Given the description of an element on the screen output the (x, y) to click on. 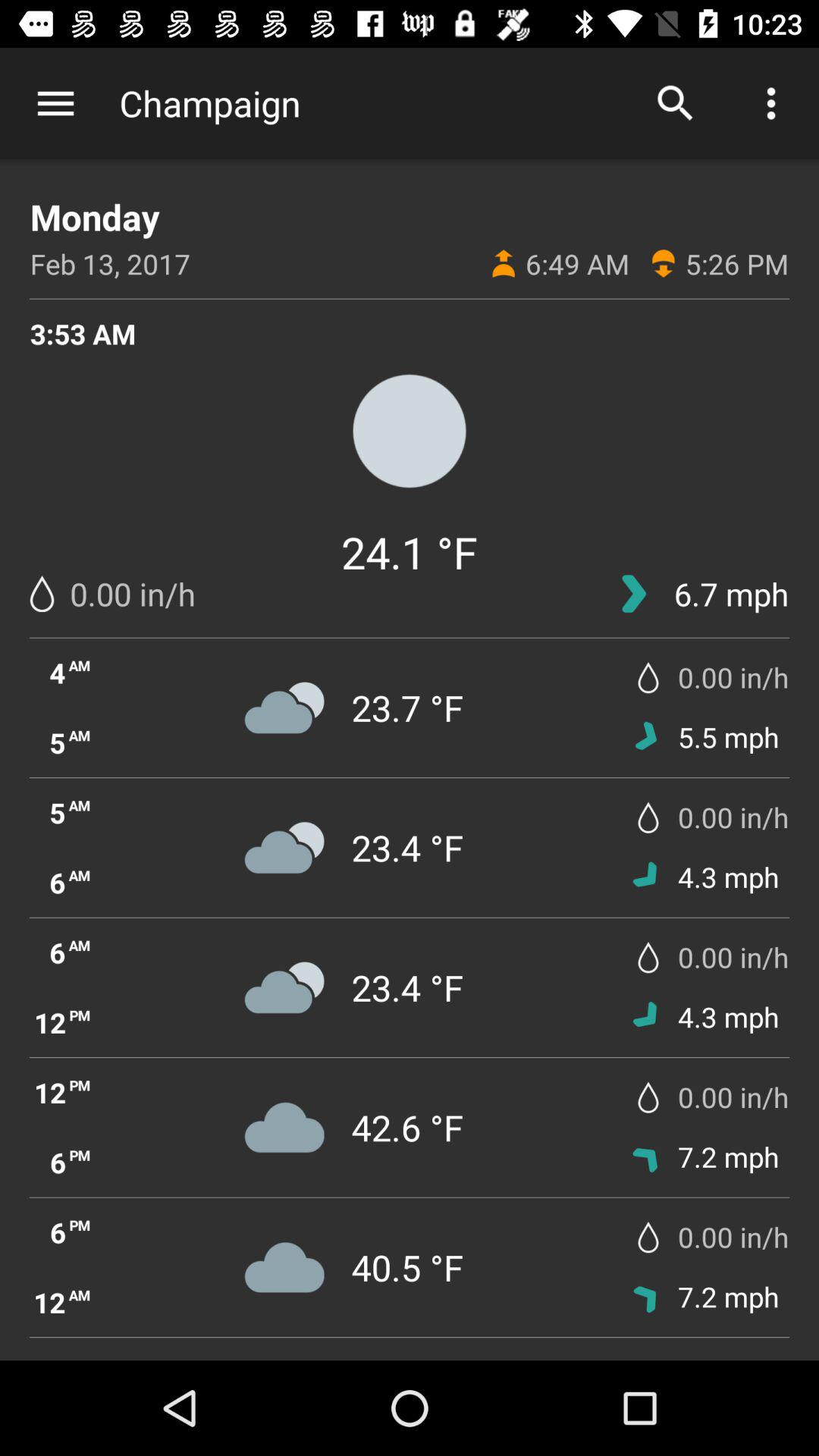
turn on the app next to champaign (55, 103)
